Given the description of an element on the screen output the (x, y) to click on. 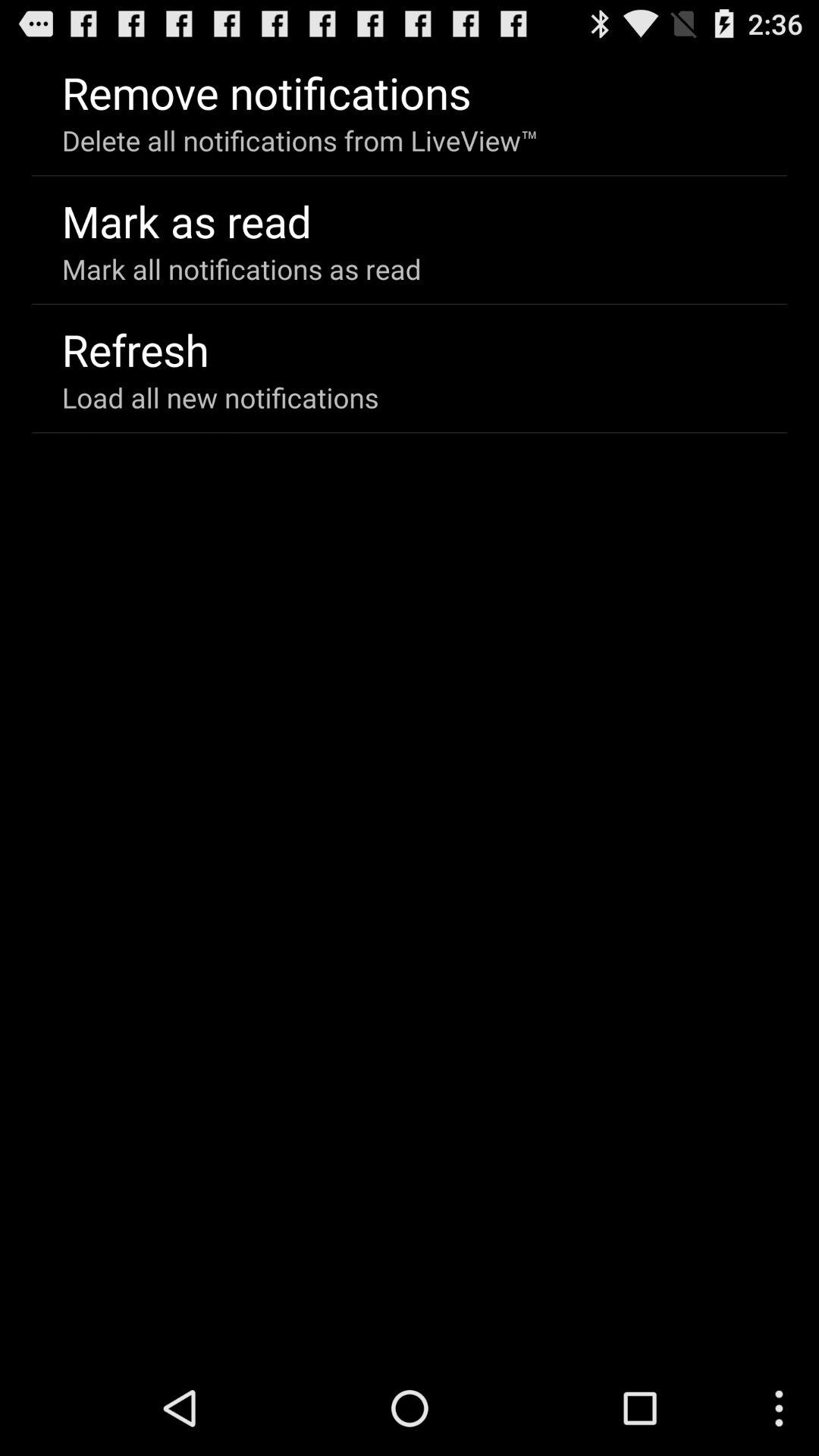
flip until the remove notifications icon (266, 92)
